Given the description of an element on the screen output the (x, y) to click on. 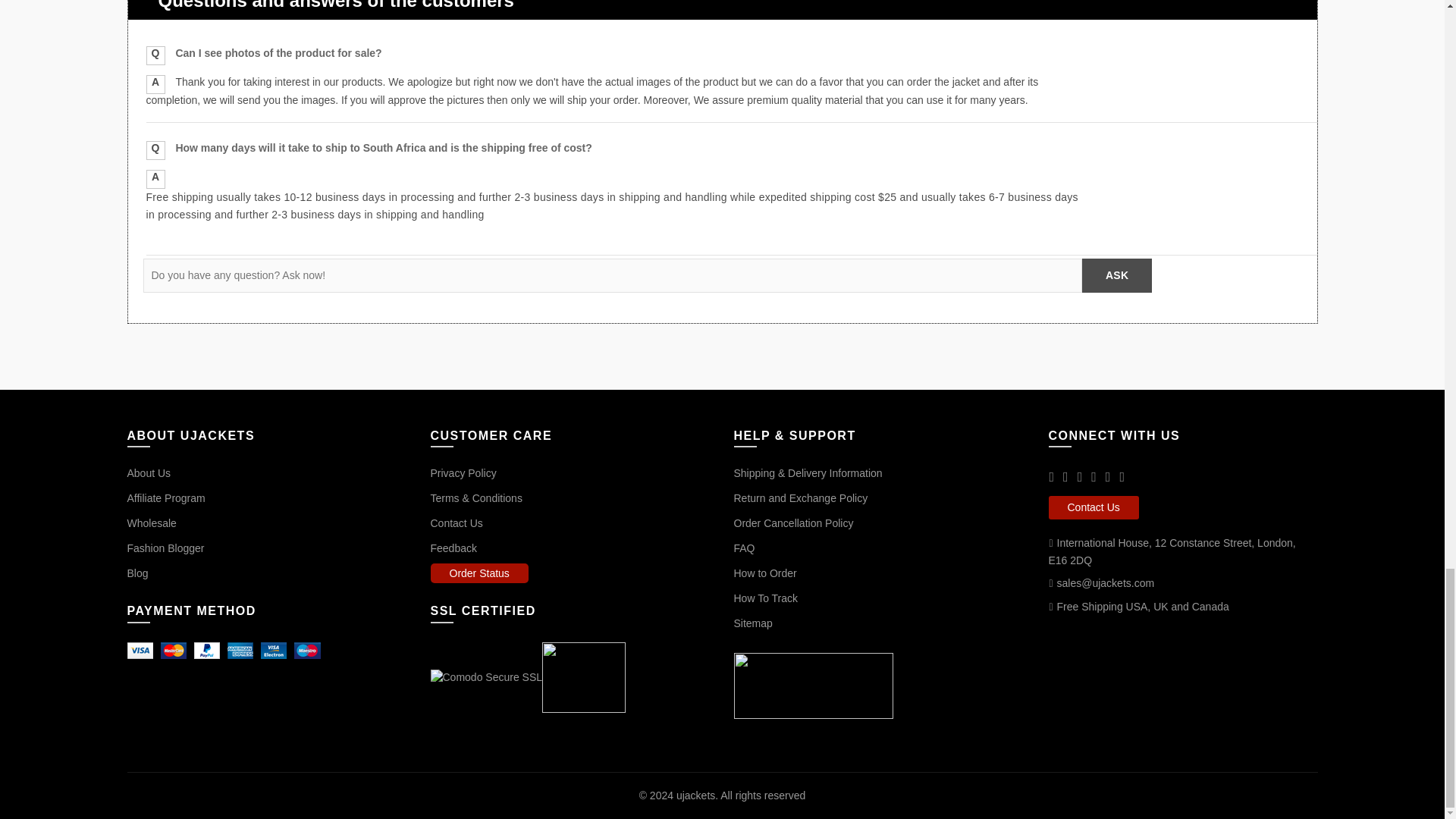
Ask your question (1116, 275)
Ask (1116, 275)
